Given the description of an element on the screen output the (x, y) to click on. 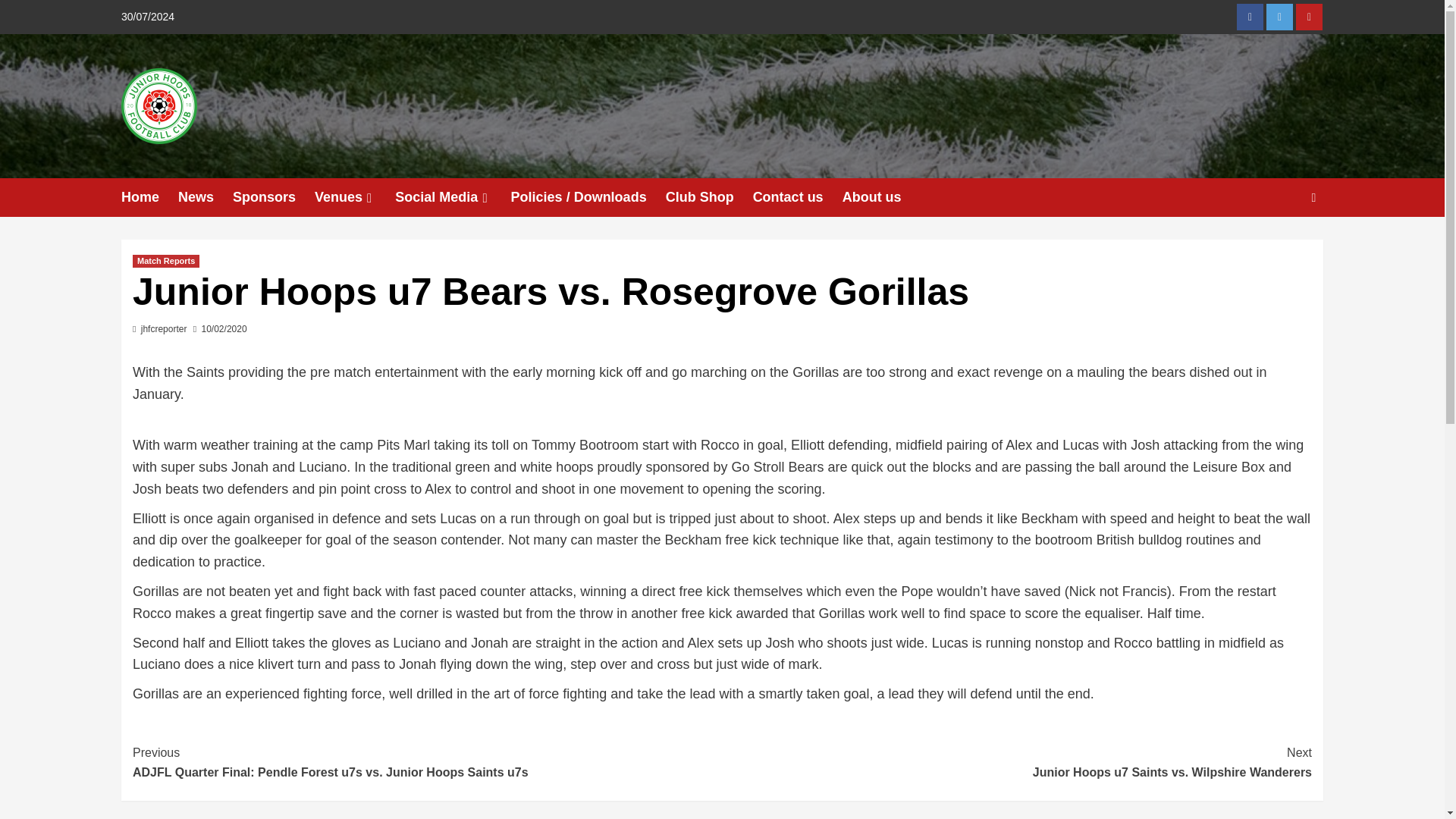
News (204, 197)
Search (1278, 244)
jhfcreporter (164, 328)
Sponsors (273, 197)
YouTube (1308, 17)
Club Shop (708, 197)
Venues (354, 197)
Twitter (1279, 17)
Home (148, 197)
Facebook (1016, 762)
Social Media (1249, 17)
Contact us (452, 197)
Match Reports (797, 197)
